Given the description of an element on the screen output the (x, y) to click on. 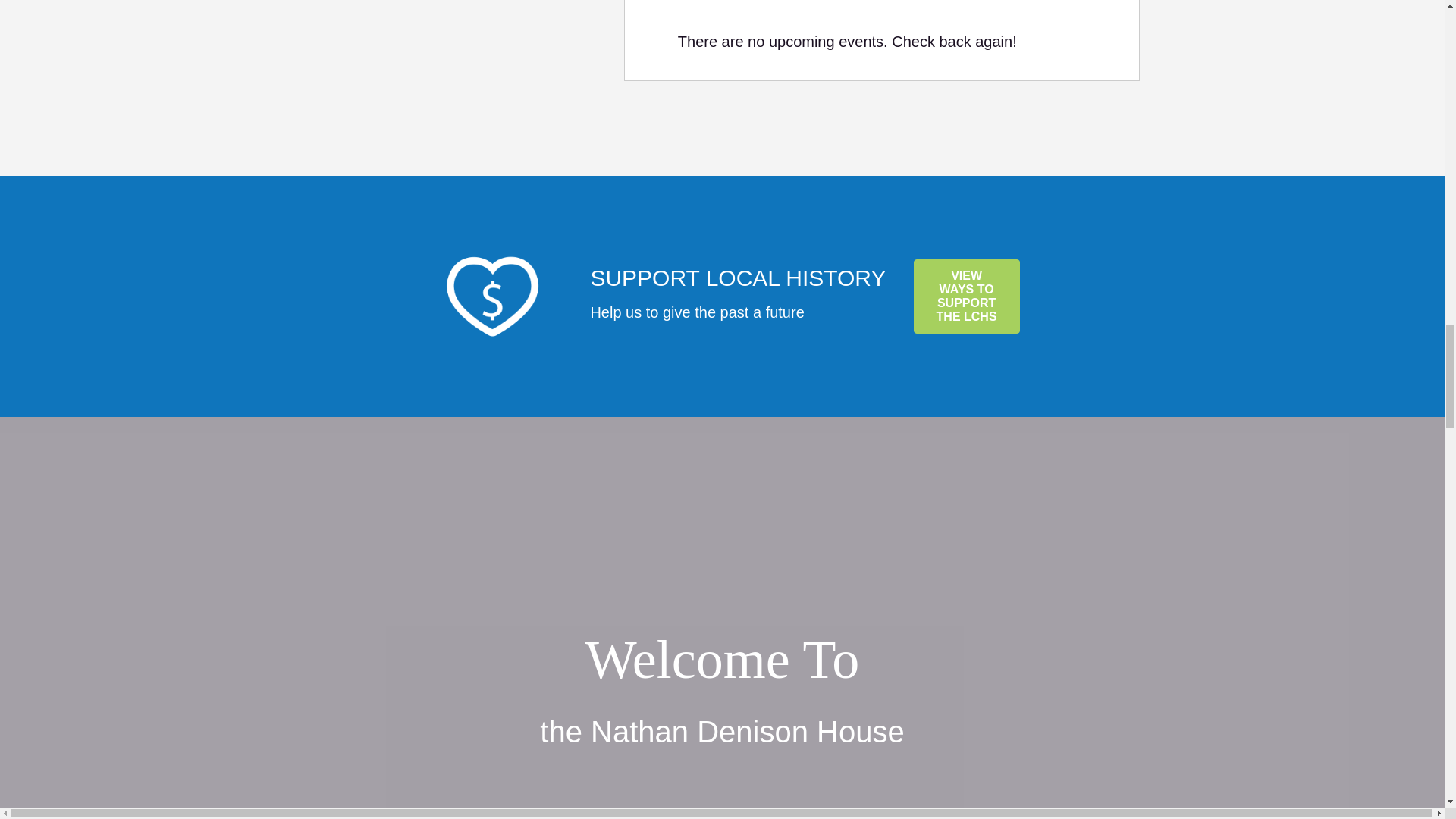
icon-give (492, 296)
Click Here (967, 296)
